Given the description of an element on the screen output the (x, y) to click on. 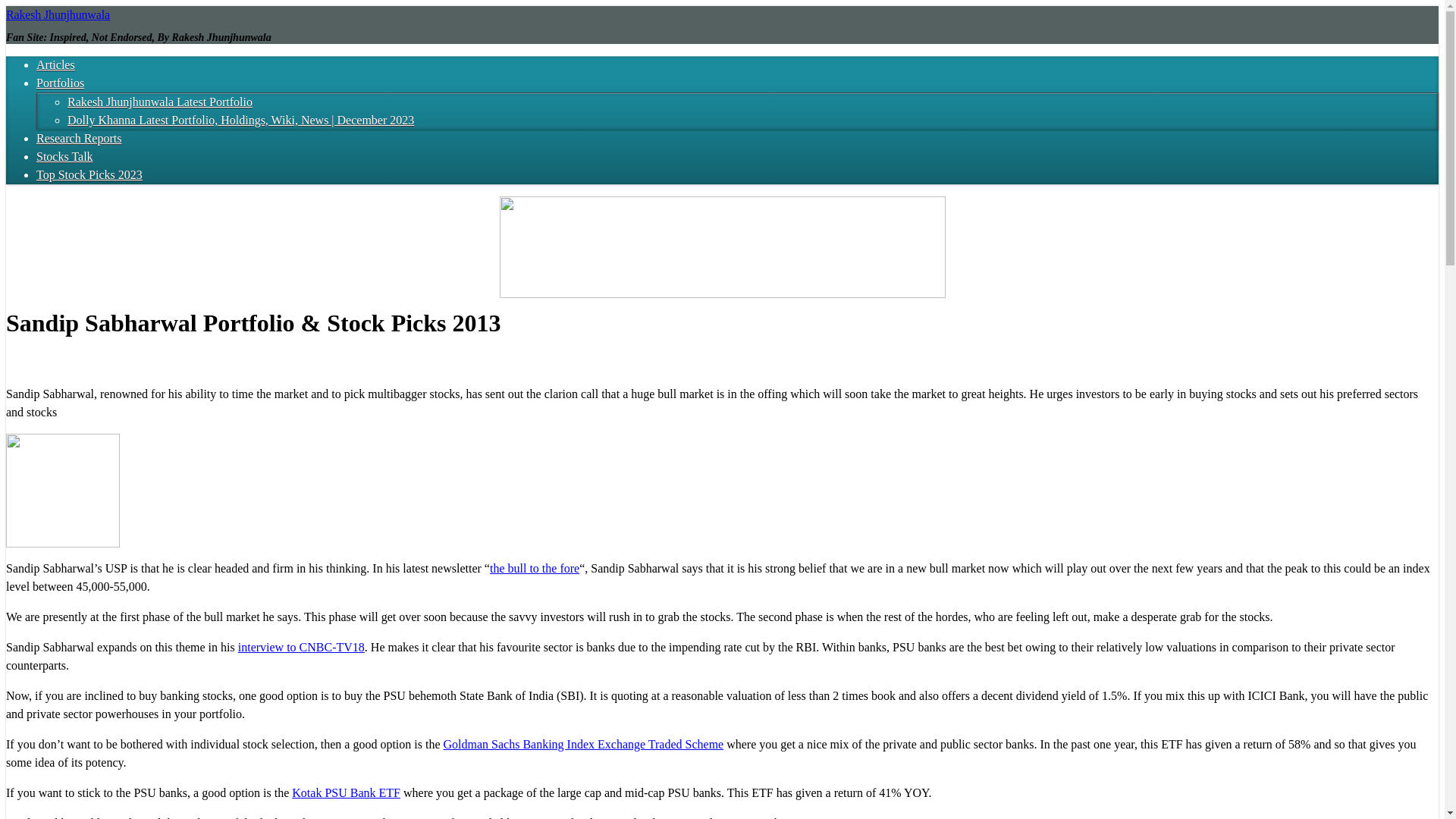
interview to CNBC-TV18 (301, 646)
Sandip Sabharwal (62, 490)
Portfolios (60, 82)
Kotak PSU Bank ETF (346, 792)
the bull to the fore (534, 567)
Goldman Sachs Banking Index Exchange Traded Scheme (582, 744)
Rakesh Jhunjhunwala Latest Portfolio (158, 101)
Research Reports (78, 137)
Rakesh Jhunjhunwala (57, 14)
Stocks Talk (64, 155)
